Given the description of an element on the screen output the (x, y) to click on. 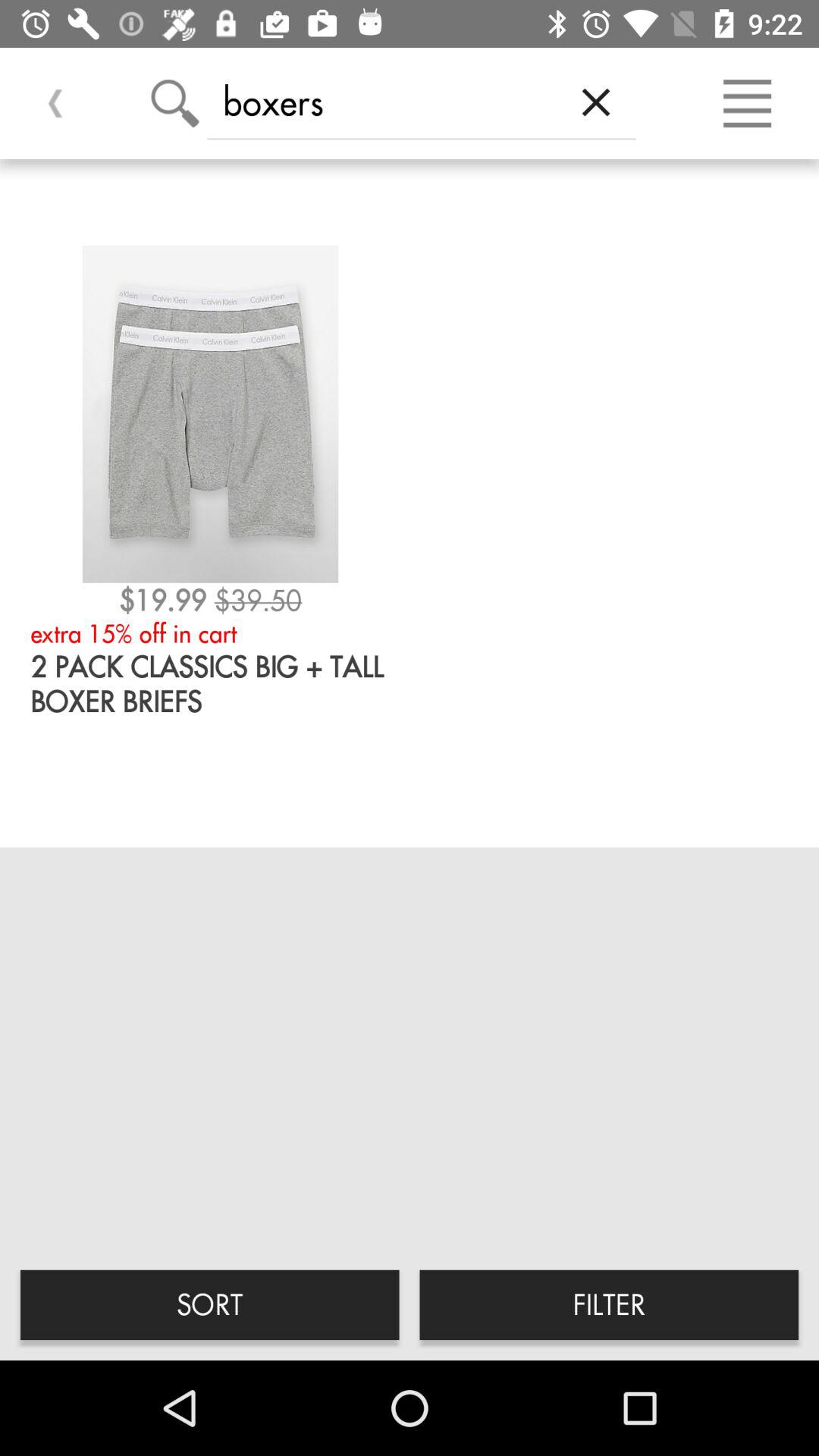
choose item to the right of the sort icon (608, 1304)
